Given the description of an element on the screen output the (x, y) to click on. 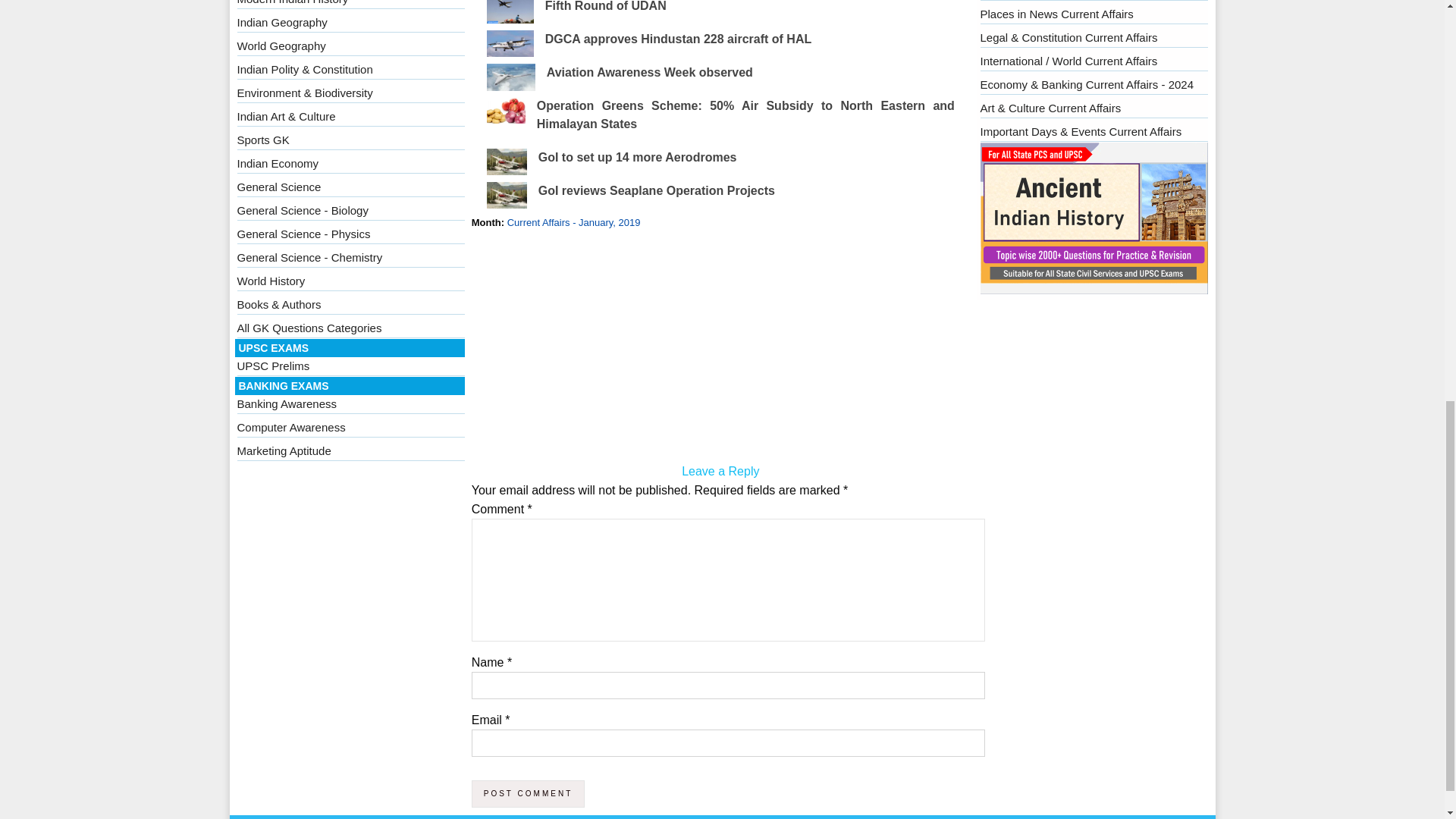
GoI to set up 14 more Aerodromes (637, 156)
GoI reviews Seaplane Operation Projects (656, 190)
Post Comment (528, 793)
Current Affairs - January, 2019 (573, 222)
Fifth Round of UDAN (605, 6)
Post Comment (528, 793)
DGCA approves Hindustan 228 aircraft of HAL (677, 38)
GoI reviews Seaplane Operation Projects (656, 190)
Advertisement (720, 348)
Fifth Round of UDAN (605, 6)
Aviation Awareness Week observed (649, 72)
DGCA approves Hindustan 228 aircraft of HAL (677, 38)
GoI to set up 14 more Aerodromes (637, 156)
Aviation Awareness Week observed (649, 72)
